Given the description of an element on the screen output the (x, y) to click on. 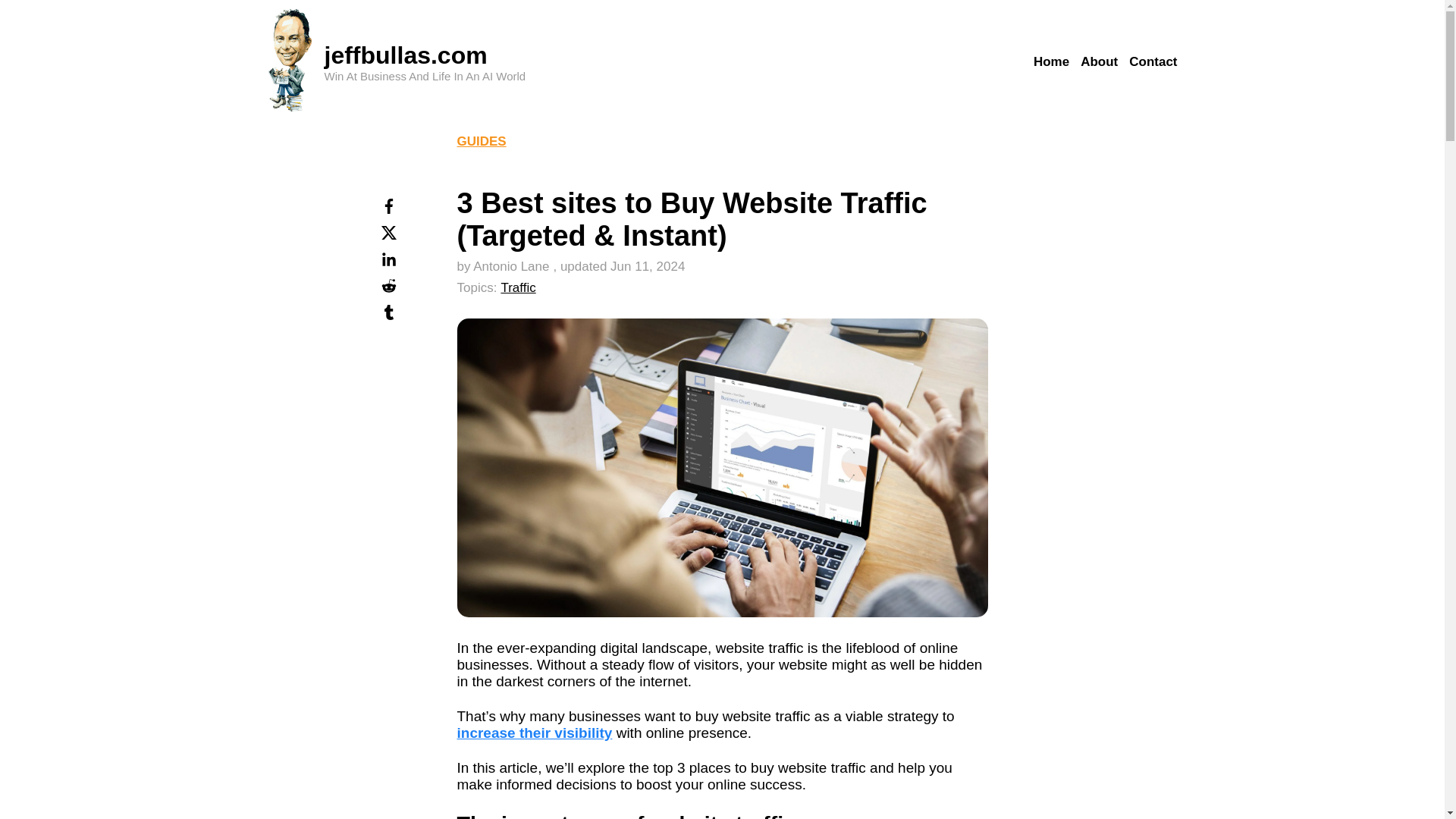
Traffic (517, 287)
Contact (1152, 61)
About (1099, 61)
increase their visibility (534, 732)
GUIDES (481, 141)
Home (1050, 61)
jeffbullas.com (405, 53)
